Given the description of an element on the screen output the (x, y) to click on. 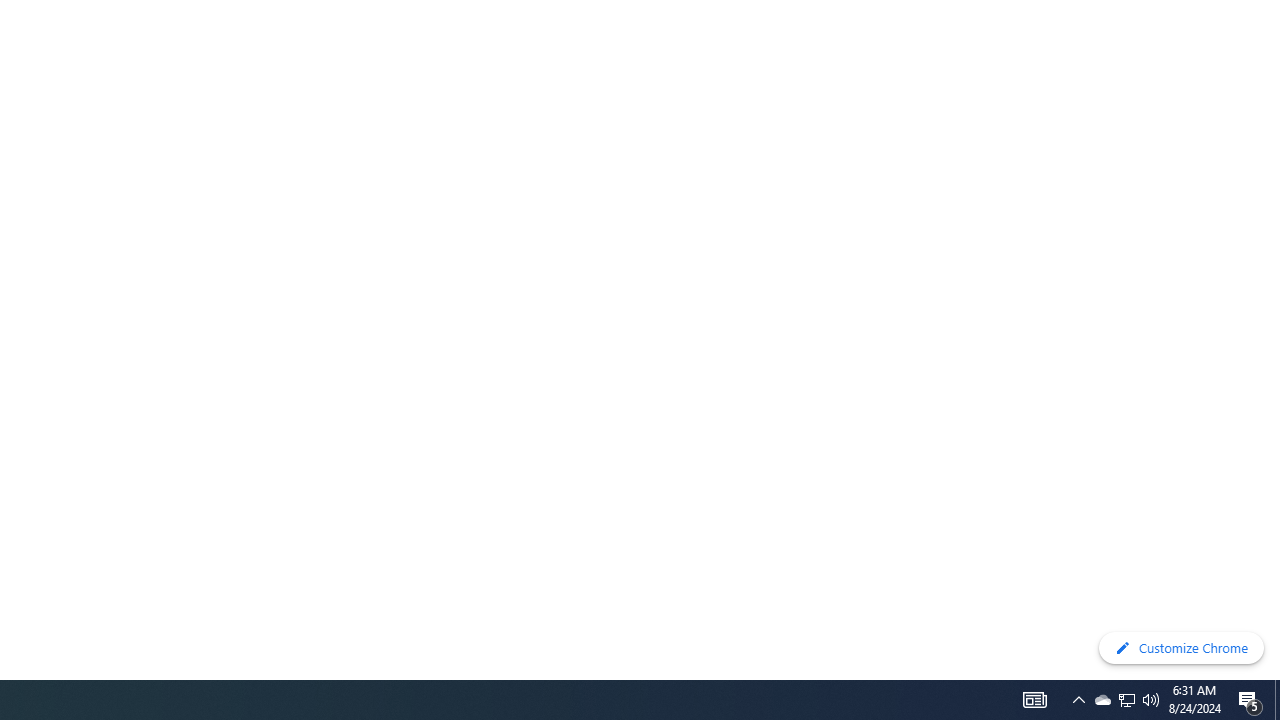
Customize Chrome (1181, 647)
